Given the description of an element on the screen output the (x, y) to click on. 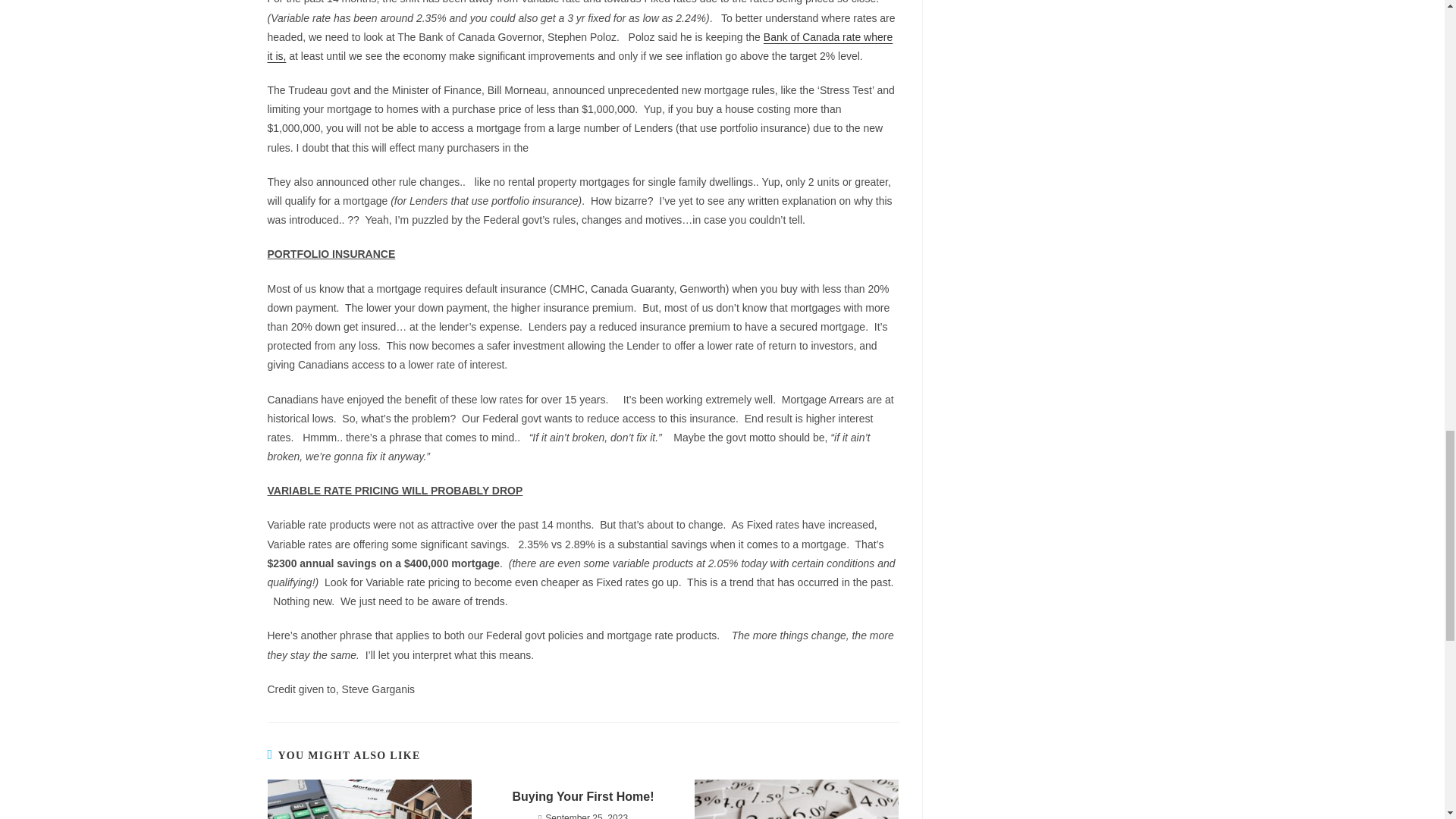
Bank of Canada rate where it is, (579, 46)
